Given the description of an element on the screen output the (x, y) to click on. 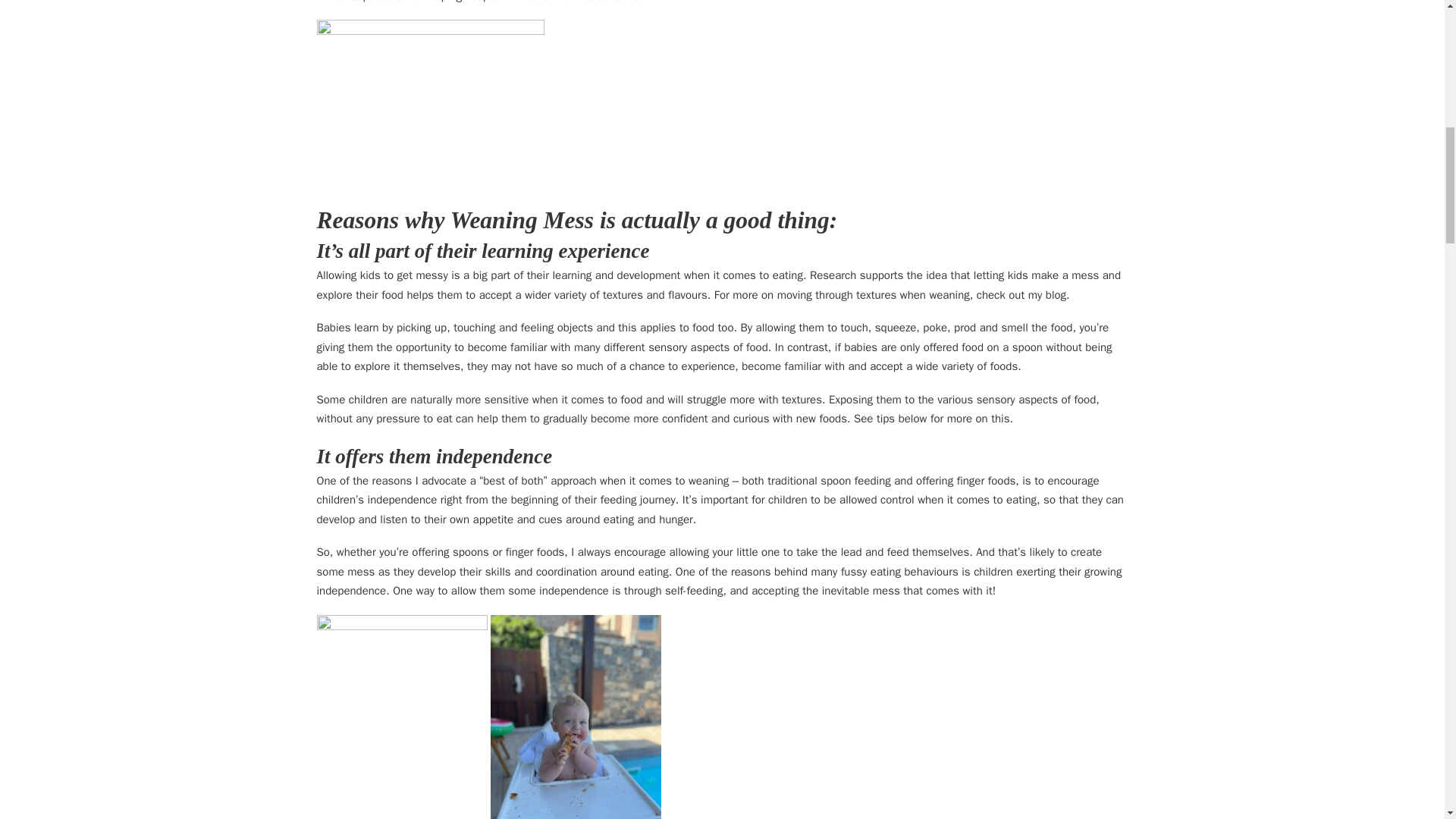
offering finger foods (964, 480)
appetite and cues around eating and hunger (583, 519)
moving through textures when weaning, (875, 295)
